Given the description of an element on the screen output the (x, y) to click on. 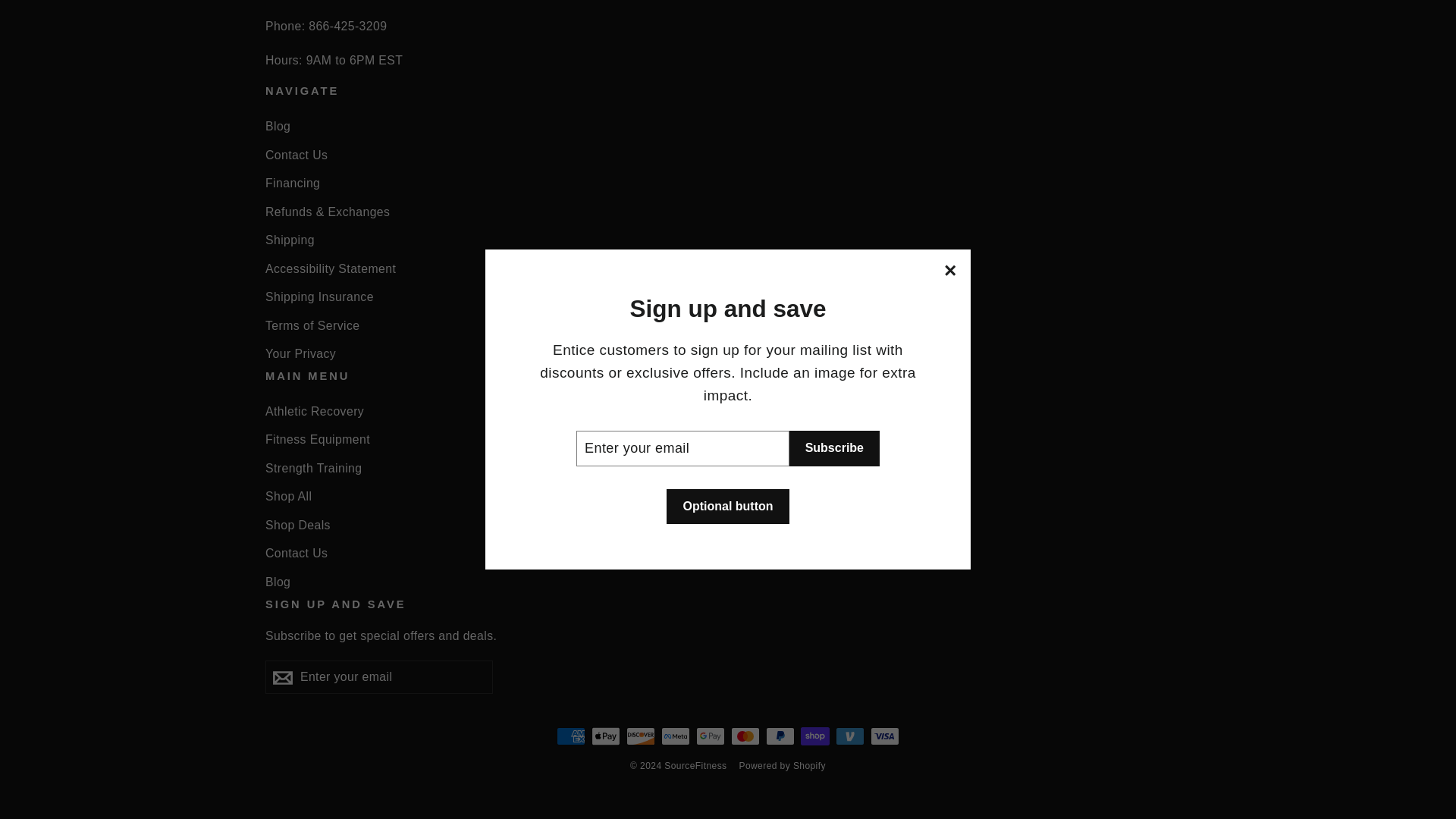
Google Pay (710, 736)
PayPal (779, 736)
Venmo (849, 736)
Mastercard (745, 736)
Meta Pay (675, 736)
Apple Pay (605, 736)
Discover (640, 736)
American Express (570, 736)
Shop Pay (814, 736)
icon-email (282, 678)
Visa (884, 736)
